Given the description of an element on the screen output the (x, y) to click on. 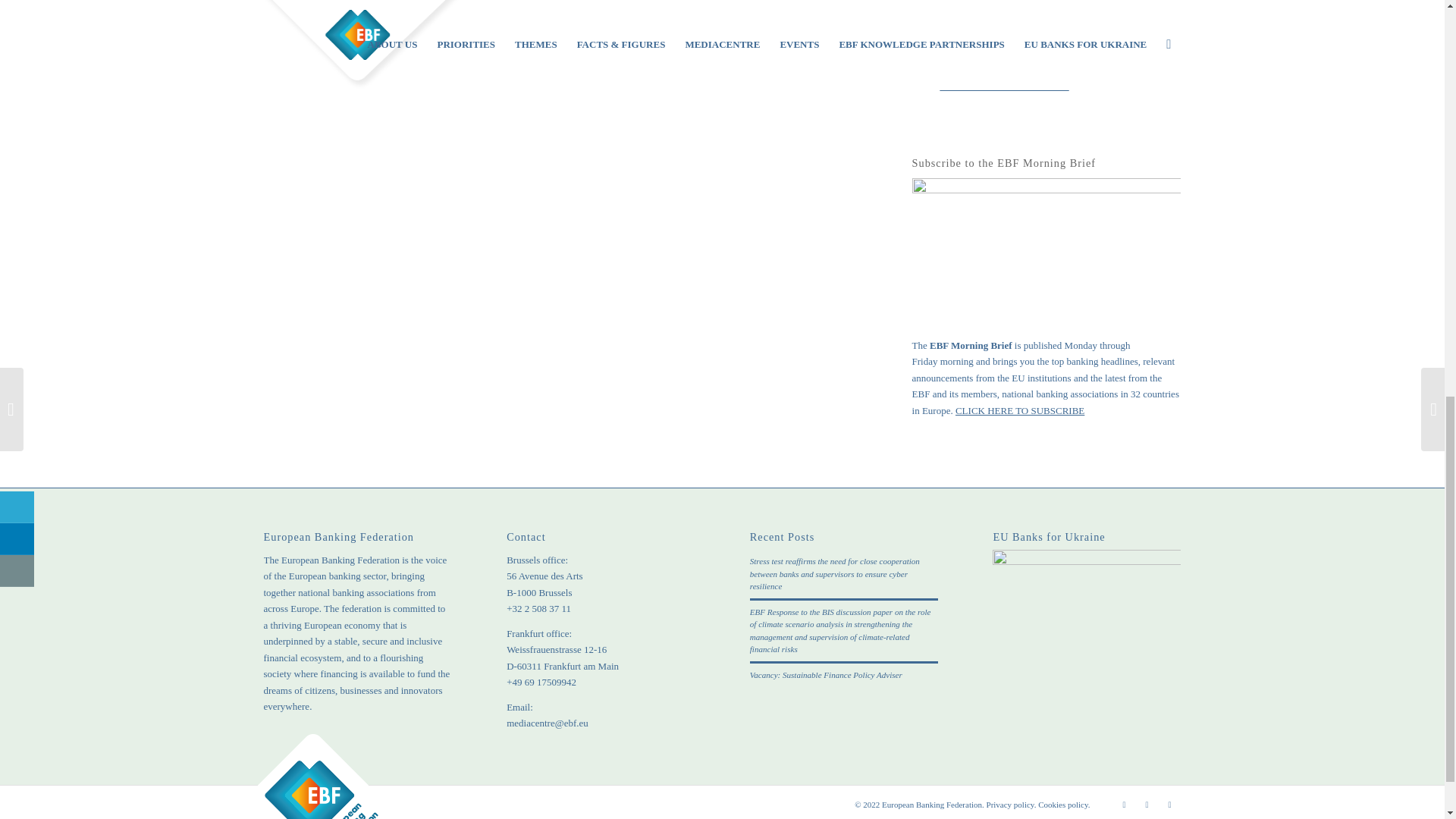
LinkedIn (1146, 804)
Vimeo (1169, 804)
Twitter (1124, 804)
CLICK HERE TO SUBSCRIBE (1003, 85)
CLICK HERE TO SUBSCRIBE (1019, 410)
